Given the description of an element on the screen output the (x, y) to click on. 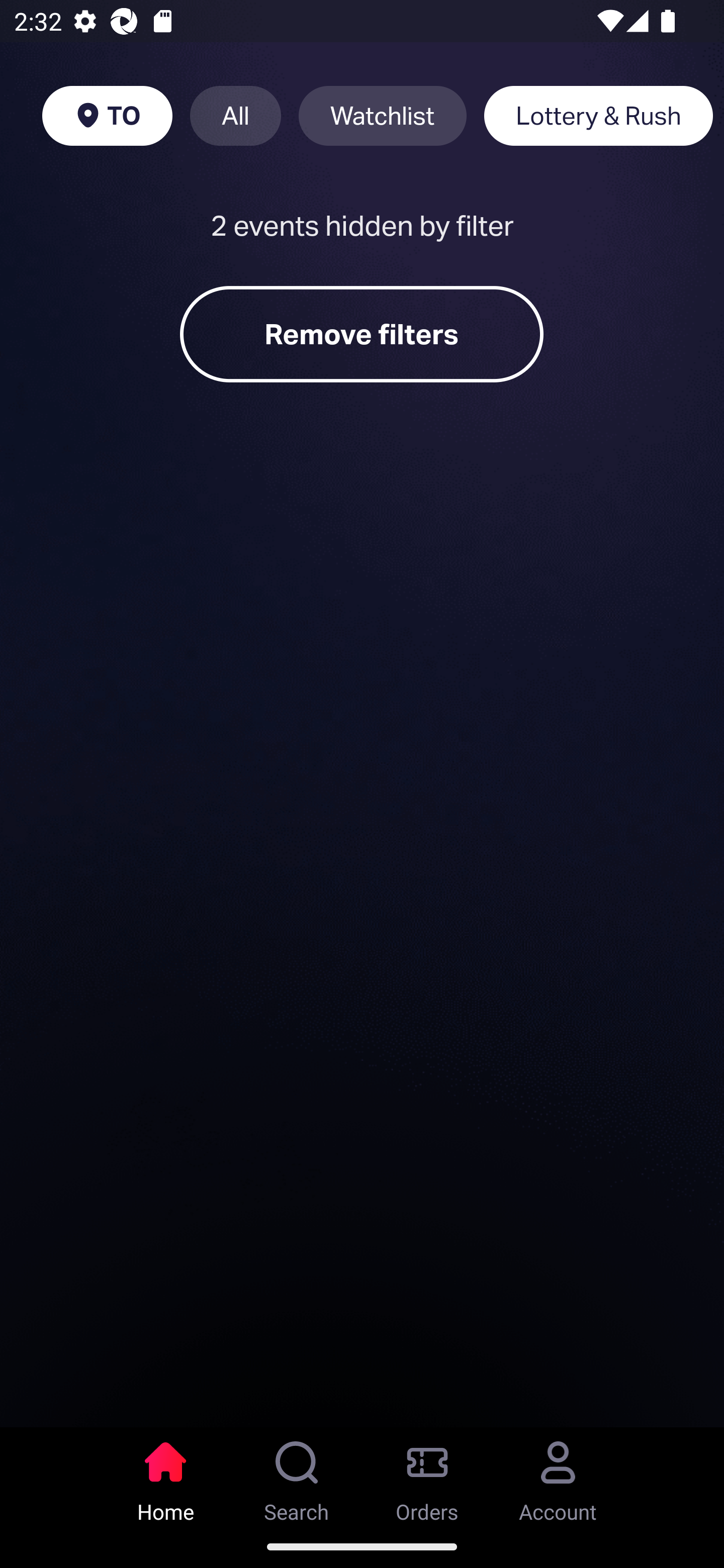
TO (106, 115)
All (234, 115)
Watchlist (382, 115)
Lottery & Rush (598, 115)
Remove filters (361, 333)
Search (296, 1475)
Orders (427, 1475)
Account (558, 1475)
